Given the description of an element on the screen output the (x, y) to click on. 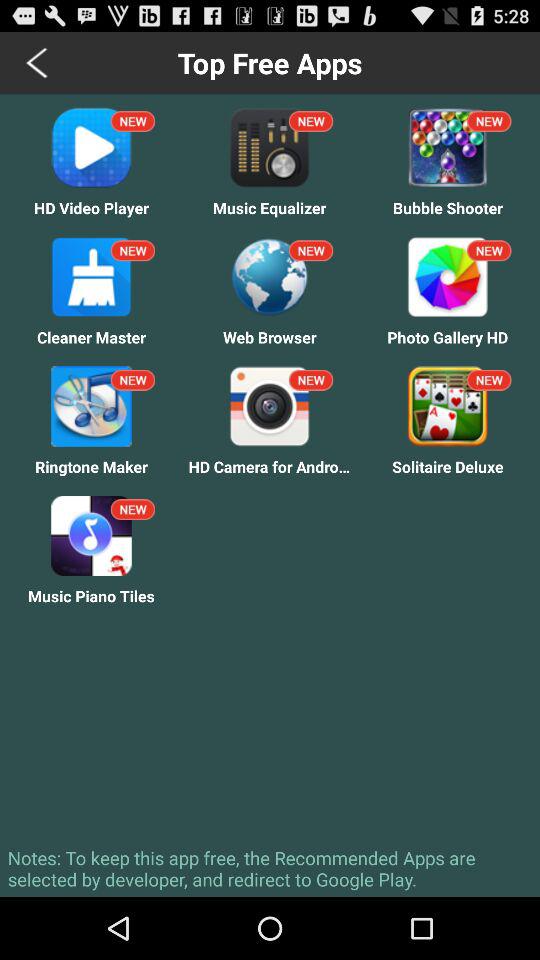
back (37, 62)
